Given the description of an element on the screen output the (x, y) to click on. 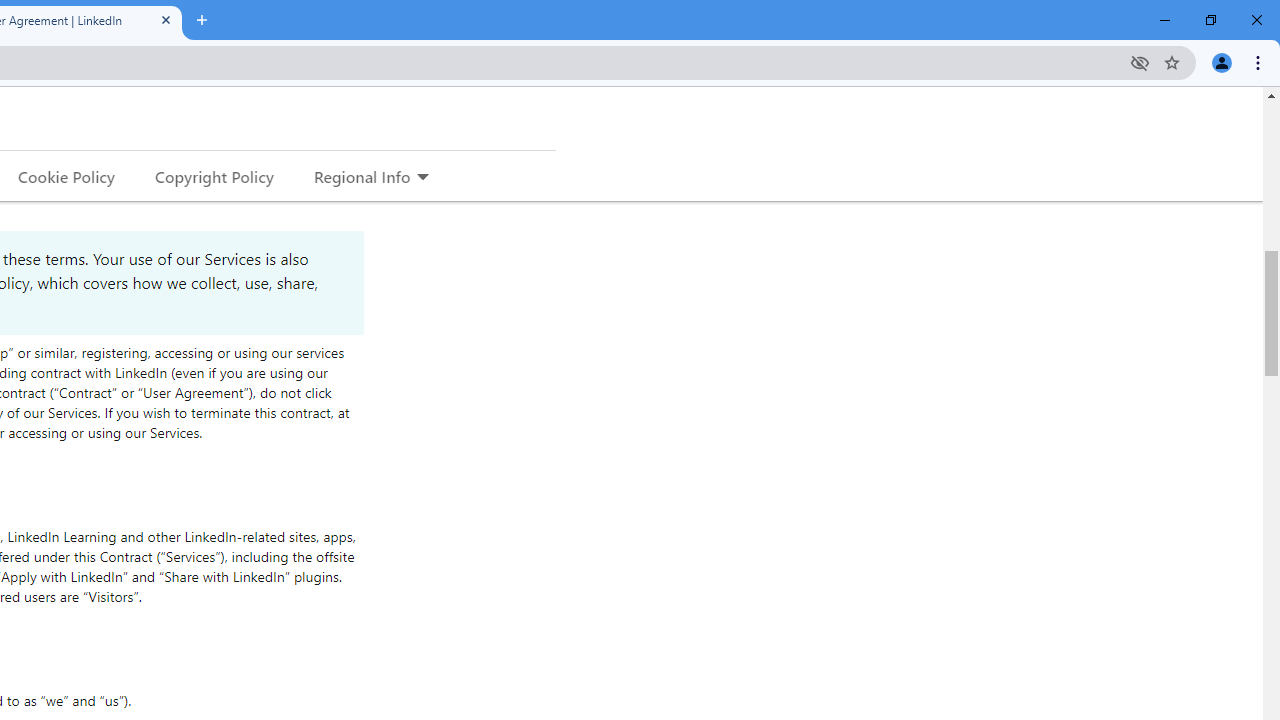
Expand to show more links for Regional Info (422, 178)
Copyright Policy (213, 176)
Regional Info (361, 176)
Cookie Policy (66, 176)
